Given the description of an element on the screen output the (x, y) to click on. 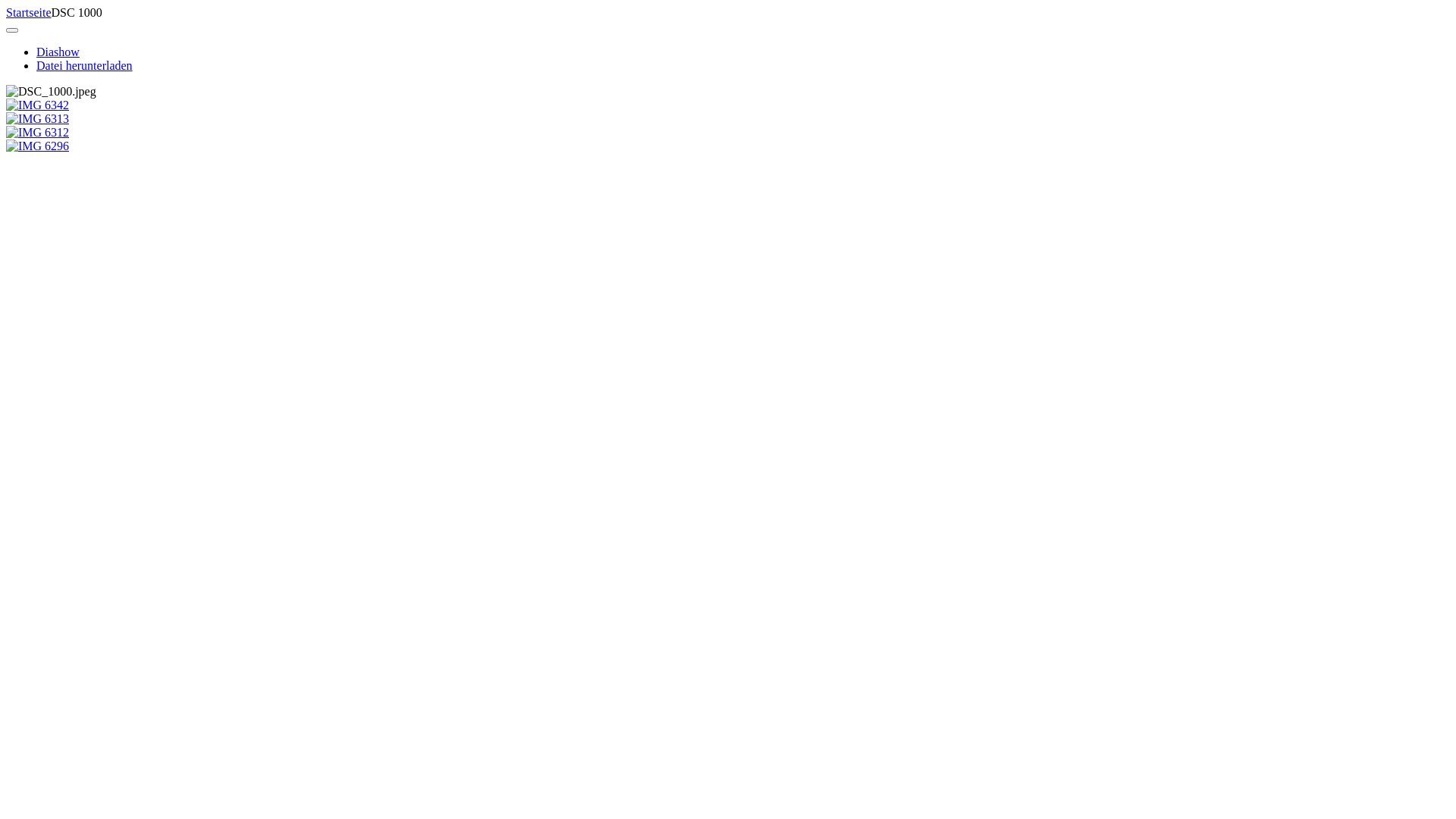
Startseite Element type: text (28, 12)
Datei herunterladen Element type: text (84, 65)
Diashow Element type: text (57, 51)
DSC 1000 - DSC_1000.jpeg Element type: hover (51, 91)
